Given the description of an element on the screen output the (x, y) to click on. 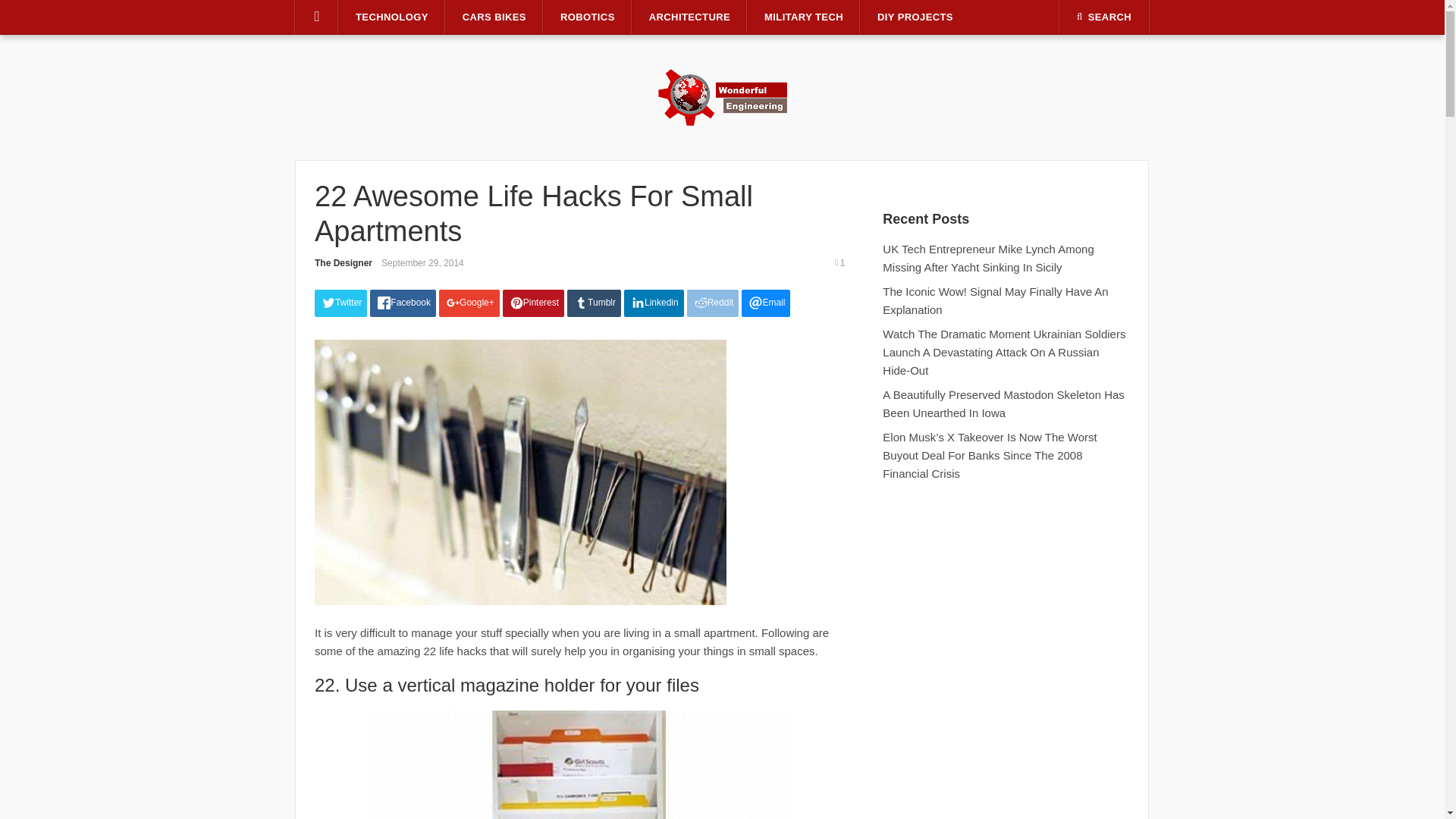
Reddit (713, 302)
Linkedin (654, 302)
ARCHITECTURE (688, 17)
CARS BIKES (494, 17)
MILITARY TECH (804, 17)
Twitter (340, 302)
DIY PROJECTS (914, 17)
Email (765, 302)
Facebook (402, 302)
Tumblr (594, 302)
